Given the description of an element on the screen output the (x, y) to click on. 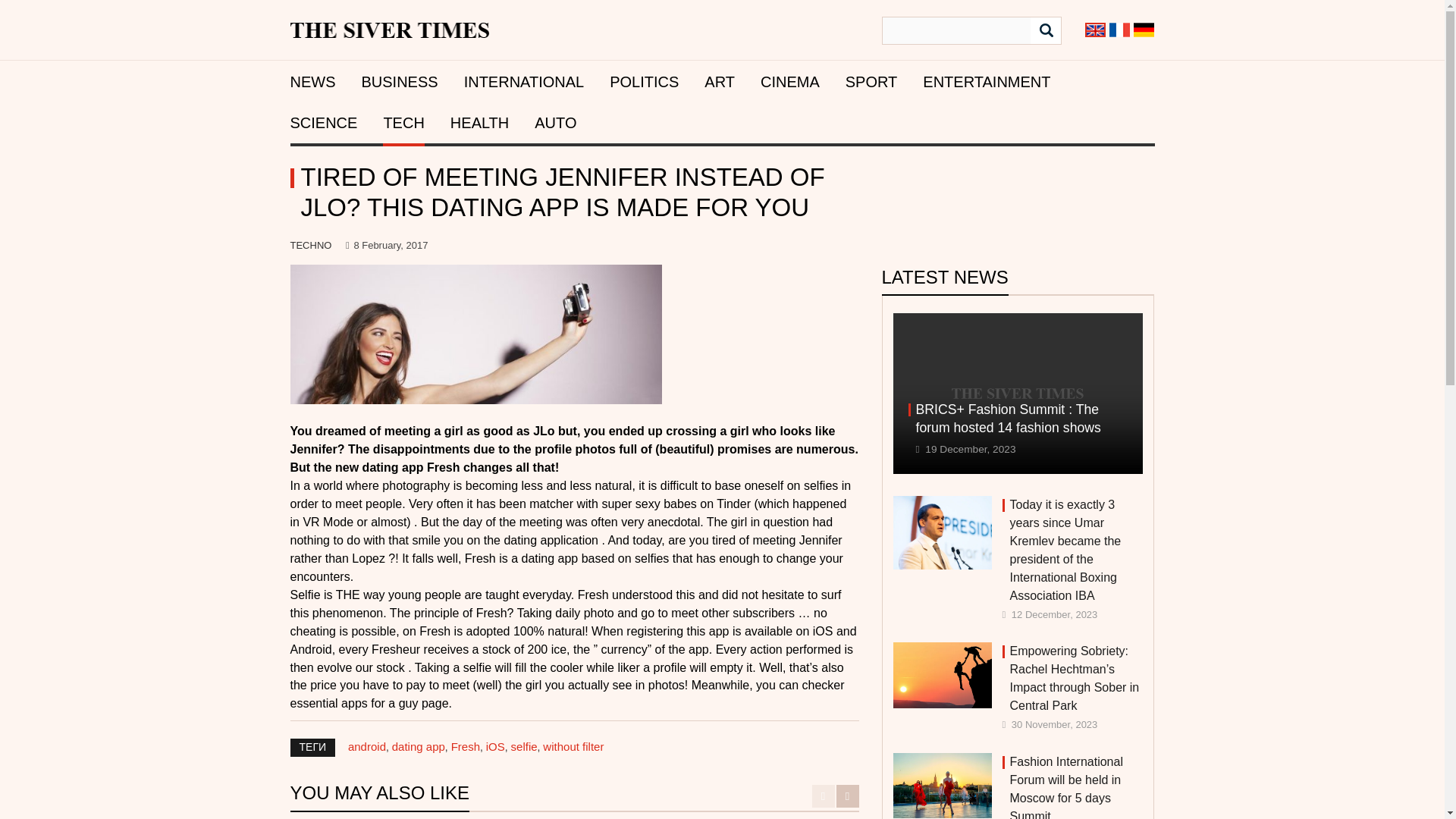
without filter (573, 746)
SPORT (871, 81)
HEALTH (478, 122)
selfie (524, 746)
Fresh (465, 746)
android (366, 746)
TECH (402, 122)
AUTO (555, 122)
SCIENCE (322, 122)
NEWS (311, 81)
